Given the description of an element on the screen output the (x, y) to click on. 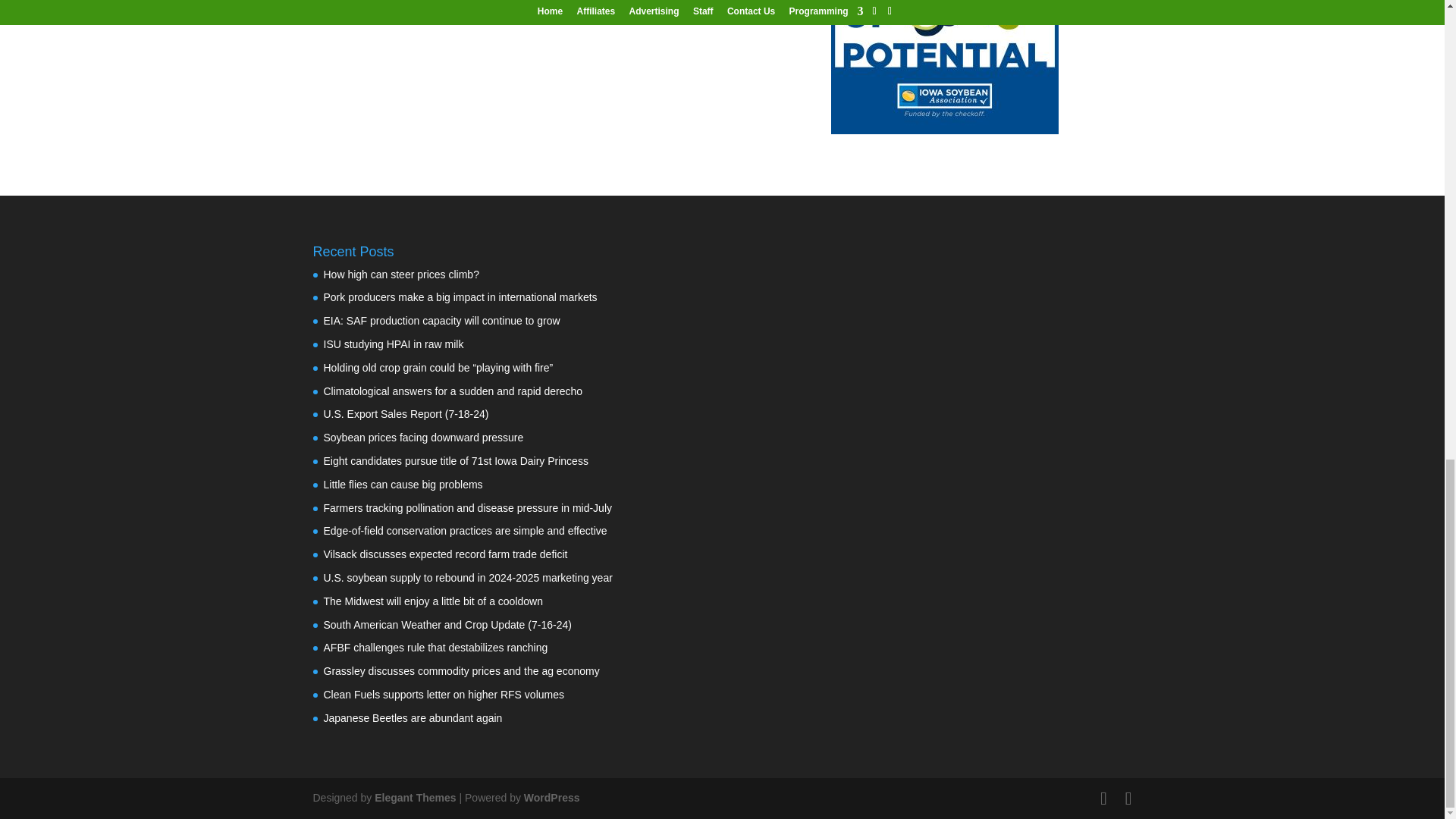
ISA23-PodsofPotential-Cover (944, 67)
Premium WordPress Themes (414, 797)
